Given the description of an element on the screen output the (x, y) to click on. 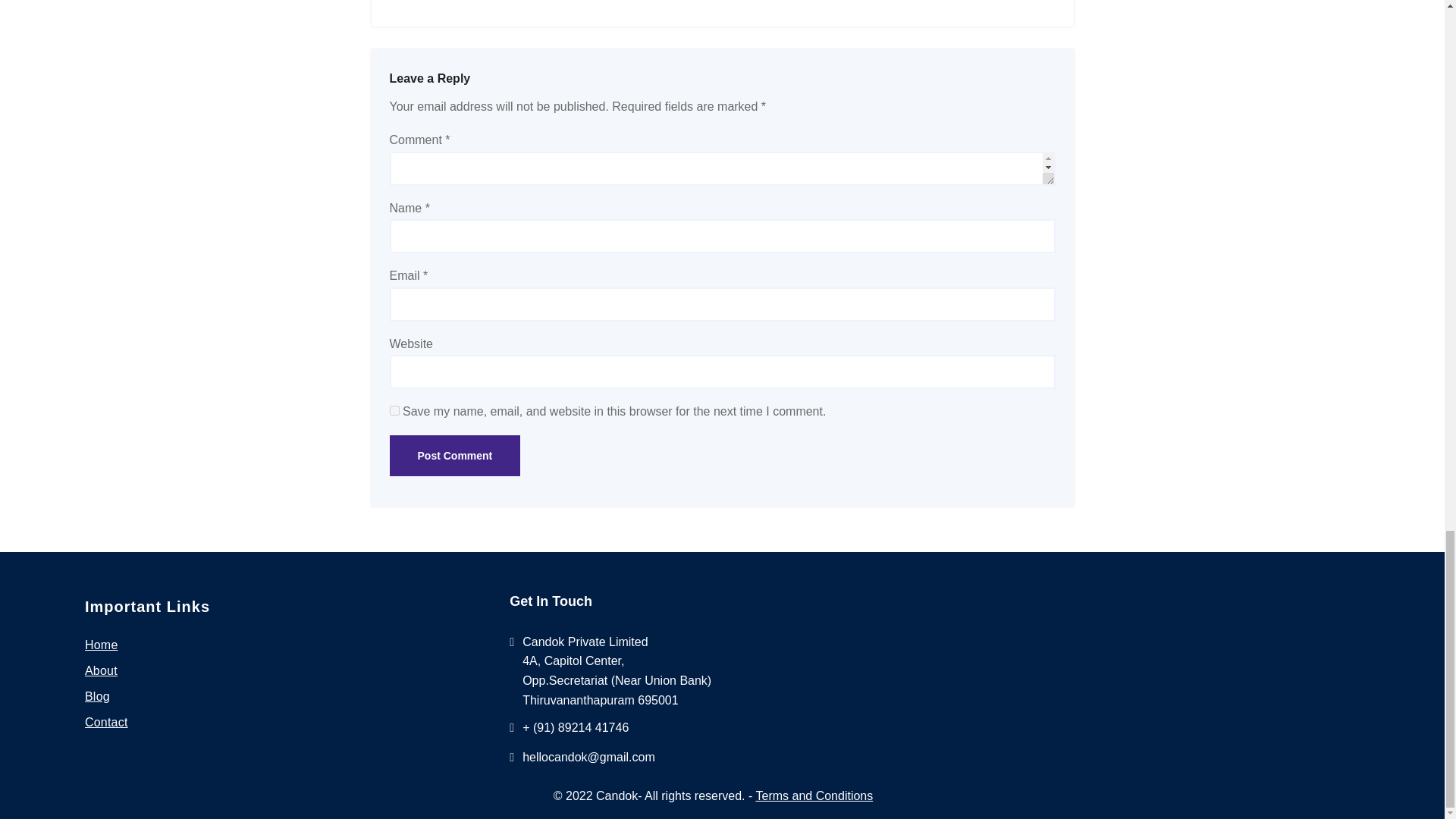
About (100, 670)
Terms and Conditions (813, 795)
Home (100, 644)
Contact (106, 721)
Post Comment (455, 454)
Blog (97, 696)
yes (394, 410)
Post Comment (455, 454)
